Given the description of an element on the screen output the (x, y) to click on. 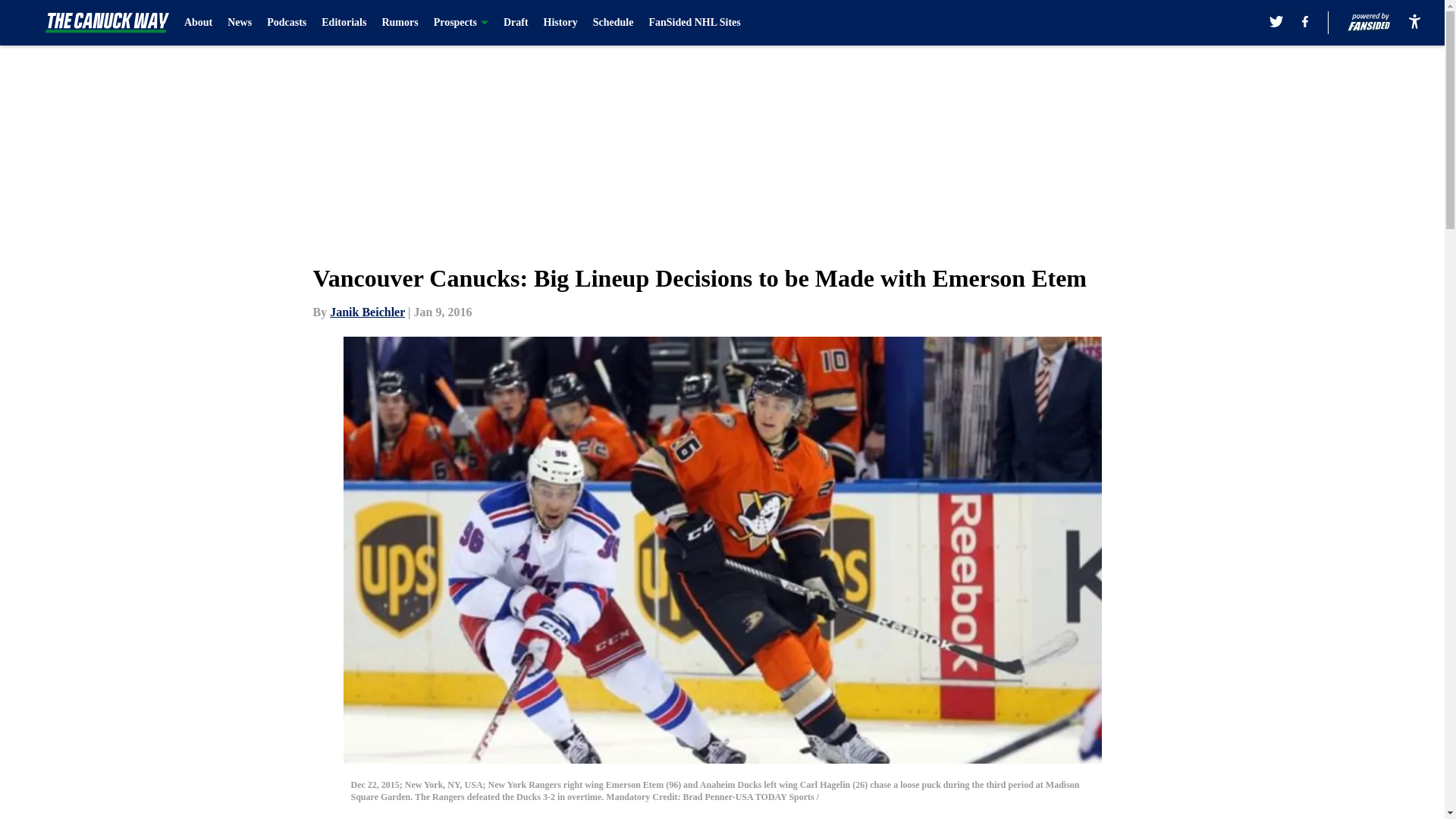
Janik Beichler (367, 311)
FanSided NHL Sites (693, 22)
Editorials (343, 22)
News (239, 22)
Rumors (399, 22)
About (198, 22)
Podcasts (285, 22)
History (560, 22)
Schedule (612, 22)
Draft (515, 22)
